Given the description of an element on the screen output the (x, y) to click on. 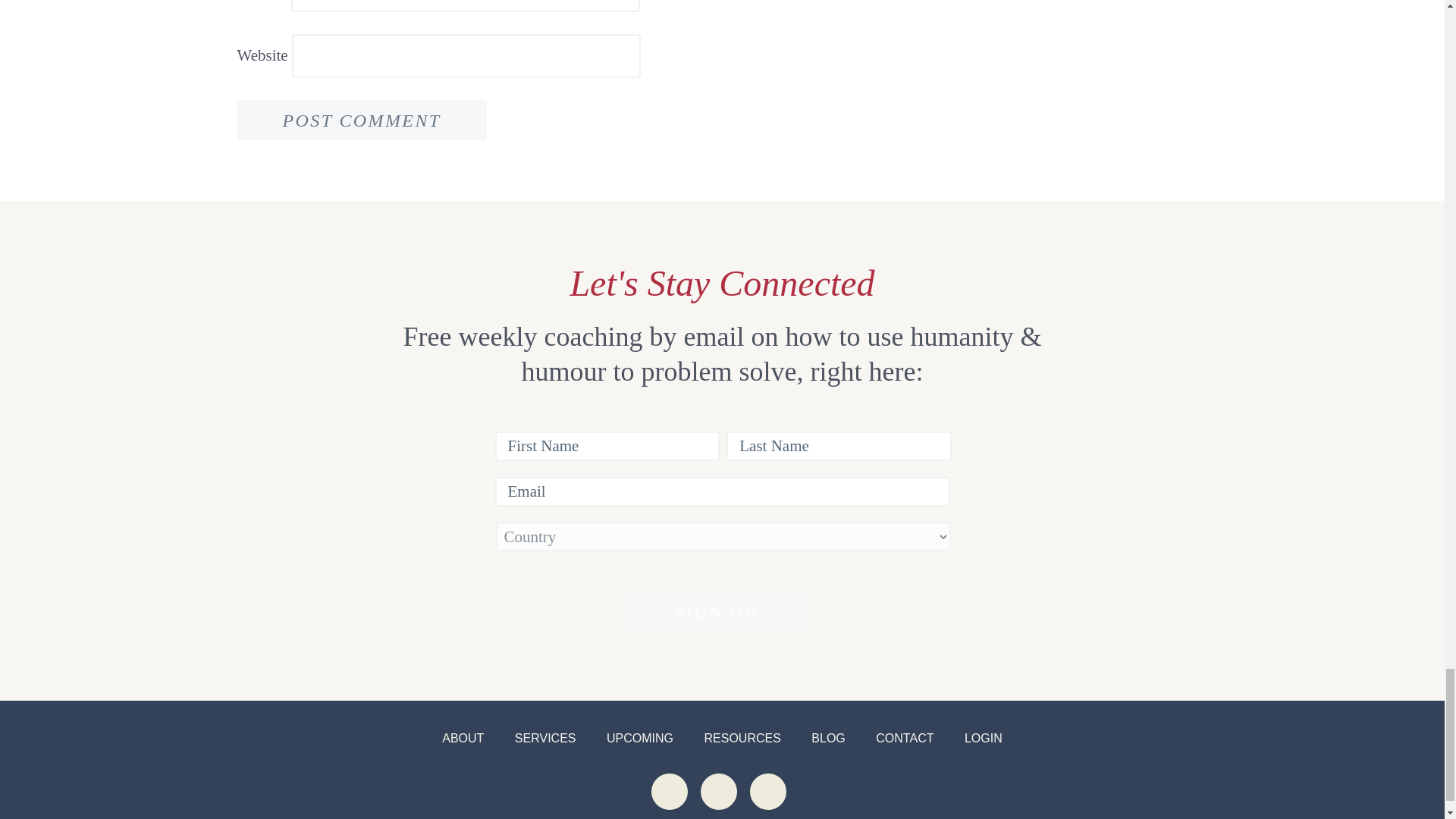
Sign Up (715, 612)
Sign Up (715, 612)
SERVICES (545, 738)
ABOUT (462, 738)
Post Comment (360, 119)
Post Comment (360, 119)
